Given the description of an element on the screen output the (x, y) to click on. 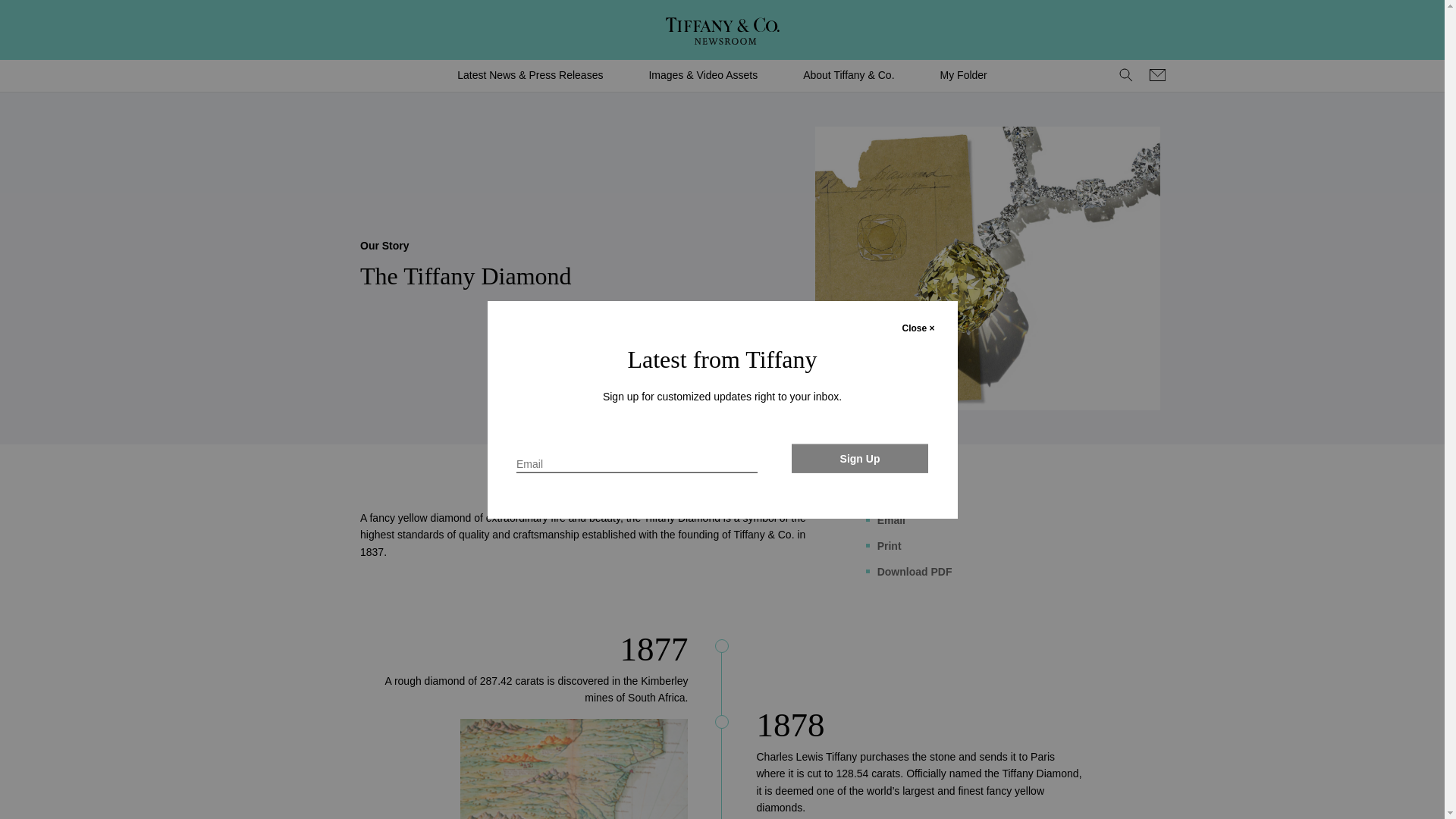
Sign Up (860, 457)
